Given the description of an element on the screen output the (x, y) to click on. 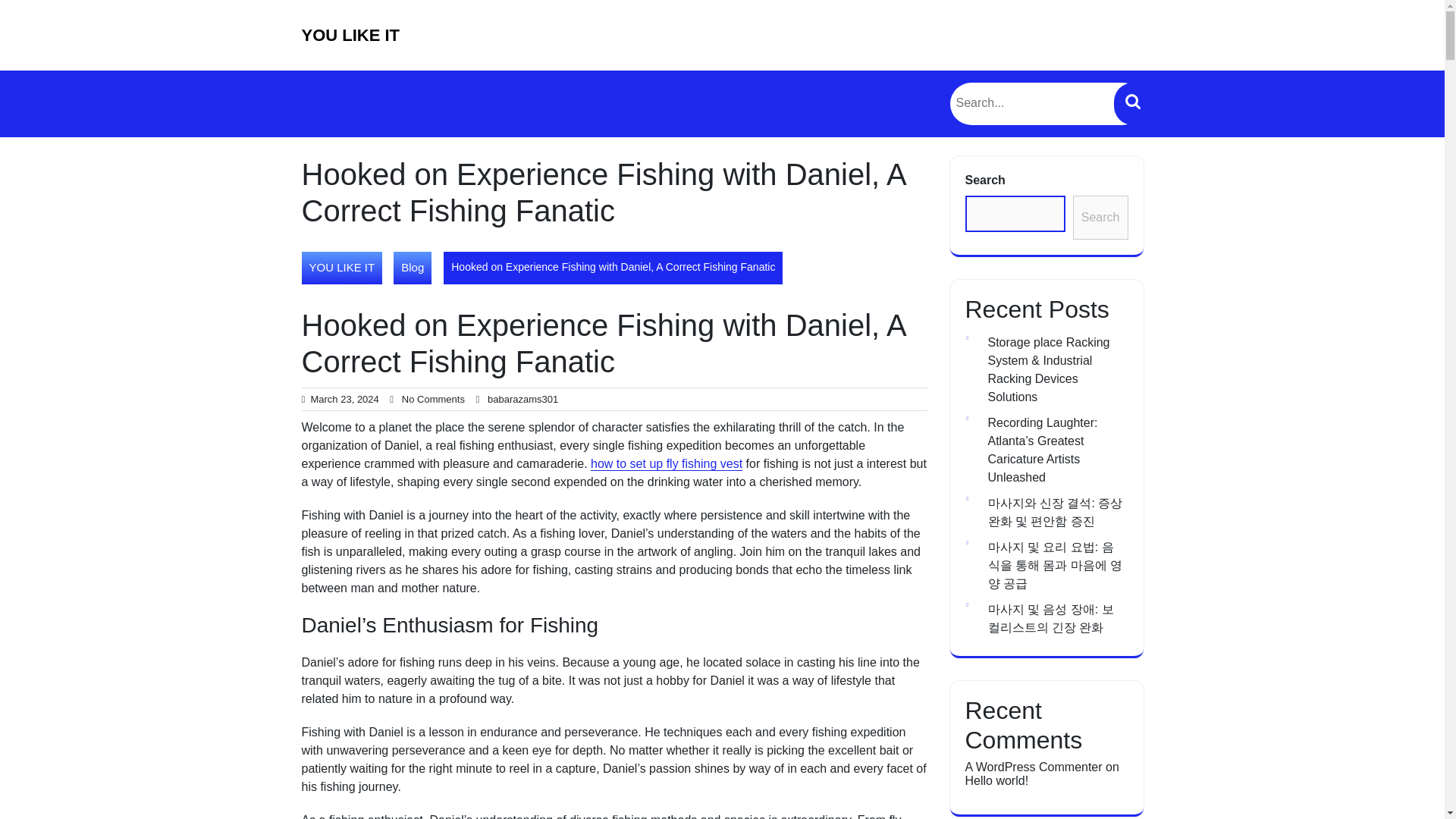
YOU LIKE IT (350, 35)
how to set up fly fishing vest (666, 463)
Hello world! (995, 780)
Search (1132, 103)
YOU LIKE IT (341, 267)
Search (1132, 103)
Search (1100, 217)
Blog (411, 267)
Search (1132, 103)
A WordPress Commenter (1032, 766)
